Given the description of an element on the screen output the (x, y) to click on. 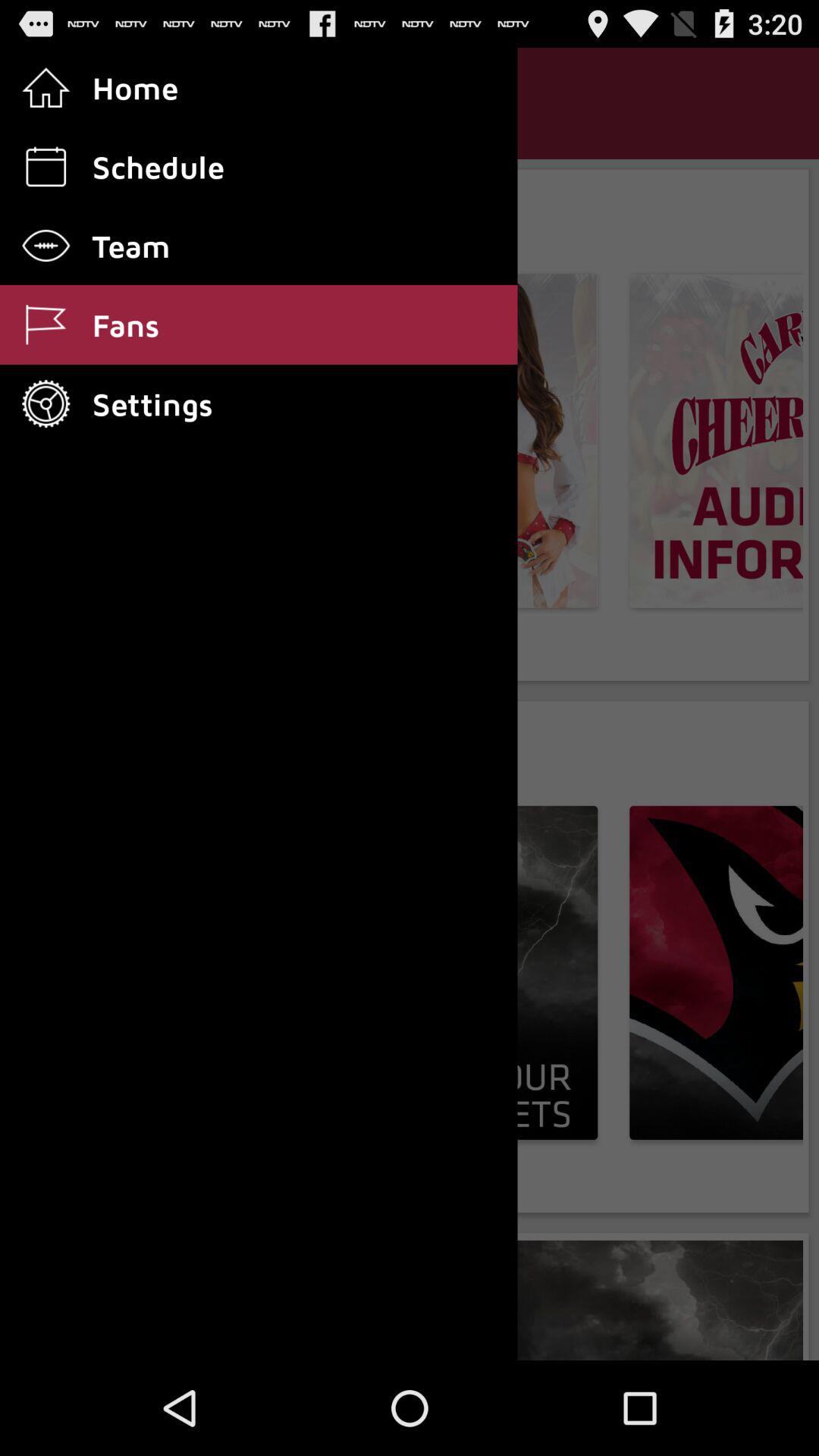
select the second image of the page (716, 973)
